Given the description of an element on the screen output the (x, y) to click on. 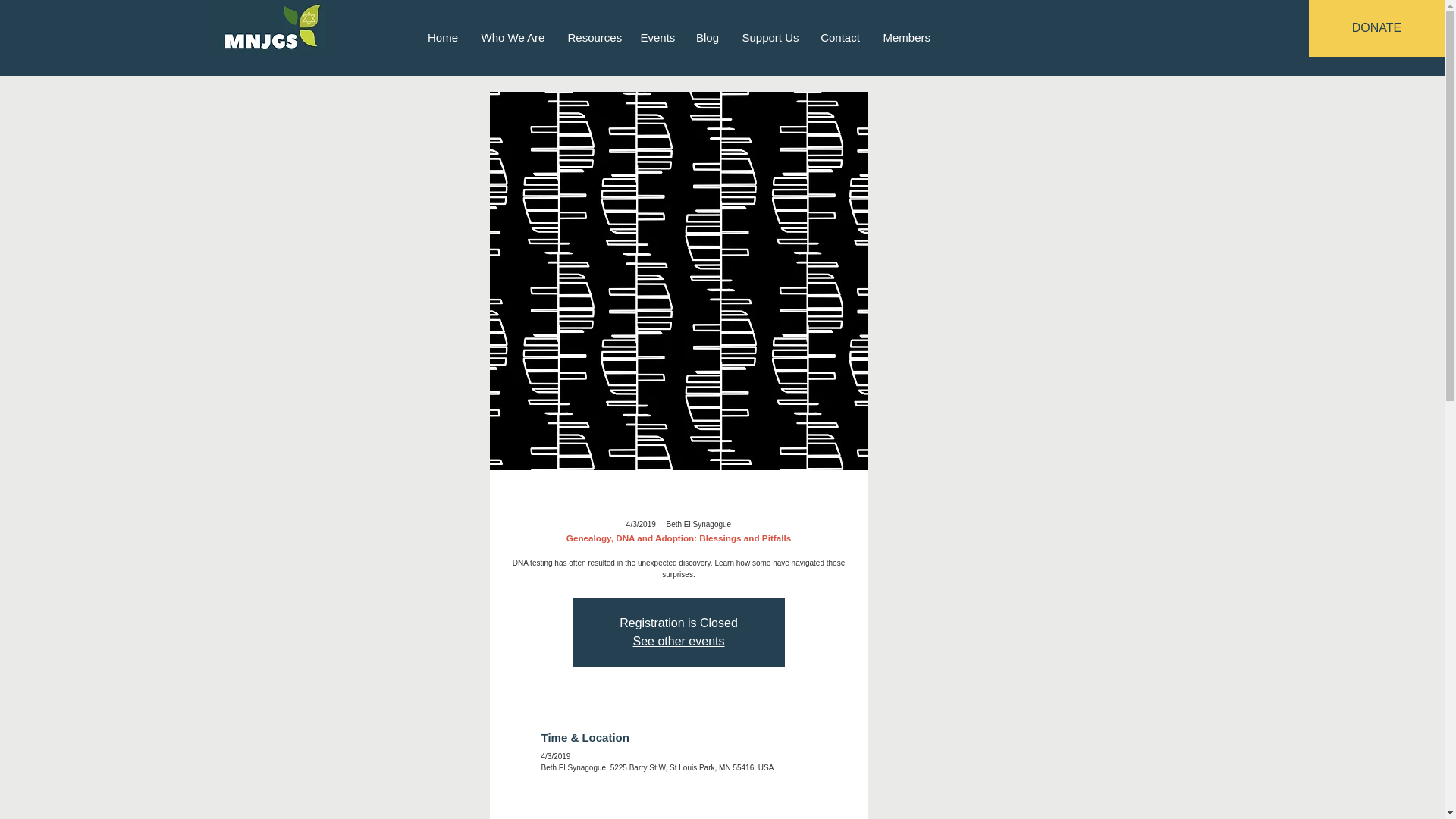
Blog (707, 37)
Home (441, 37)
Resources (592, 37)
See other events (679, 640)
Contact (839, 37)
Members (907, 37)
Support Us (769, 37)
Who We Are (513, 37)
Events (656, 37)
